Given the description of an element on the screen output the (x, y) to click on. 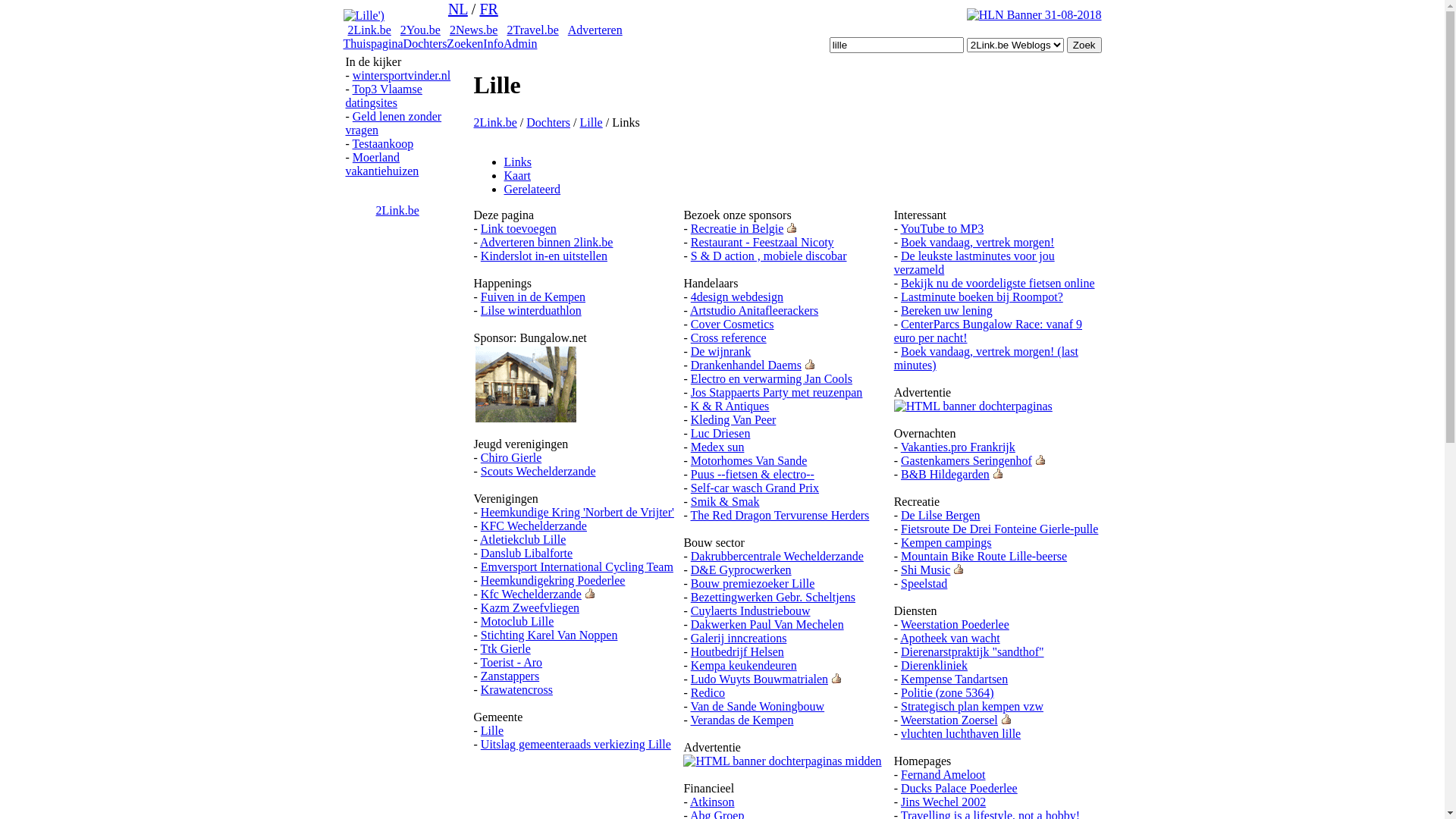
Politie (zone 5364) Element type: text (947, 692)
Kempa keukendeuren Element type: text (743, 664)
Krawatencross Element type: text (516, 689)
Adverteren binnen 2link.be Element type: text (546, 241)
Scouts Wechelderzande Element type: text (538, 470)
Atkinson Element type: text (712, 801)
S & D action , mobiele discobar Element type: text (768, 255)
2Link.be Element type: text (494, 122)
Kinderslot in-en uitstellen Element type: text (543, 255)
Moerland vakantiehuizen Element type: text (382, 163)
Link toevoegen Element type: text (518, 228)
Drankenhandel Daems Element type: text (745, 364)
Fietsroute De Drei Fonteine Gierle-pulle Element type: text (999, 528)
Houtbedrijf Helsen Element type: text (737, 651)
Dochters Element type: text (425, 43)
Admin Element type: text (519, 43)
Ttk Gierle Element type: text (505, 648)
Kazm Zweefvliegen Element type: text (529, 607)
Kfc Wechelderzande Element type: text (530, 593)
wintersportvinder.nl Element type: text (401, 75)
Lille Element type: text (491, 730)
Heemkundigekring Poederlee Element type: text (552, 580)
Vakanties.pro Frankrijk Element type: text (957, 446)
Puus --fietsen & electro-- Element type: text (752, 473)
Strategisch plan kempen vzw Element type: text (971, 705)
Top3 Vlaamse datingsites Element type: text (383, 95)
Heemkundige Kring 'Norbert de Vrijter' Element type: text (577, 511)
K & R Antiques Element type: text (729, 405)
Ducks Palace Poederlee Element type: text (958, 787)
Lastminute boeken bij Roompot? Element type: text (981, 296)
Gastenkamers Seringenhof Element type: text (966, 460)
Kempense Tandartsen Element type: text (953, 678)
B&B Hildegarden Element type: text (944, 473)
Weerstation Poederlee Element type: text (954, 624)
Kleding Van Peer Element type: text (733, 419)
2Travel.be Element type: text (532, 29)
Bezettingwerken Gebr. Scheltjens Element type: text (772, 596)
Self-car wasch Grand Prix Element type: text (754, 487)
Bouw premiezoeker Lille Element type: text (752, 583)
Smik & Smak Element type: text (724, 501)
Lille Element type: text (590, 122)
2You.be Element type: text (420, 29)
Verandas de Kempen Element type: text (741, 719)
Redico Element type: text (707, 692)
Stichting Karel Van Noppen Element type: text (549, 634)
Weerstation Zoersel Element type: text (948, 719)
Thuispagina Element type: text (372, 43)
Uitslag gemeenteraads verkiezing Lille Element type: text (575, 743)
Dochters Element type: text (548, 122)
Adverteren Element type: text (594, 29)
Artstudio Anitafleerackers Element type: text (754, 310)
Cuylaerts Industriebouw Element type: text (750, 610)
Motorhomes Van Sande Element type: text (748, 460)
Cross reference Element type: text (728, 337)
Electro en verwarming Jan Cools Element type: text (771, 378)
Danslub Libalforte Element type: text (526, 552)
De wijnrank Element type: text (720, 351)
Restaurant - Feestzaal Nicoty Element type: text (762, 241)
Zoek Element type: text (1083, 45)
2Link.be Element type: text (397, 209)
Fuiven in de Kempen Element type: text (532, 296)
Zoeken Element type: text (464, 43)
Cover Cosmetics Element type: text (732, 323)
4design webdesign Element type: text (736, 296)
CenterParcs Bungalow Race: vanaf 9 euro per nacht! Element type: text (988, 330)
Luc Driesen Element type: text (720, 432)
YouTube to MP3 Element type: text (941, 228)
Kaart Element type: text (516, 175)
KFC Wechelderzande Element type: text (533, 525)
FR Element type: text (488, 8)
Van de Sande Woningbouw Element type: text (757, 705)
NL Element type: text (457, 8)
Jins Wechel 2002 Element type: text (942, 801)
Zanstappers Element type: text (509, 675)
Info Element type: text (493, 43)
De Lilse Bergen Element type: text (940, 514)
Toerist - Aro Element type: text (511, 661)
Boek vandaag, vertrek morgen! (last minutes) Element type: text (986, 358)
Bereken uw lening Element type: text (946, 310)
Apotheek van wacht Element type: text (950, 637)
Atletiekclub Lille Element type: text (522, 539)
Mountain Bike Route Lille-beerse Element type: text (983, 555)
vluchten luchthaven lille Element type: text (960, 733)
Jos Stappaerts Party met reuzenpan Element type: text (776, 391)
Chiro Gierle Element type: text (510, 457)
Dakrubbercentrale Wechelderzande Element type: text (776, 555)
Galerij inncreations Element type: text (738, 637)
D&E Gyprocwerken Element type: text (740, 569)
Bekijk nu de voordeligste fietsen online Element type: text (997, 282)
2News.be Element type: text (473, 29)
Kempen campings Element type: text (945, 542)
Recreatie in Belgie Element type: text (737, 228)
De leukste lastminutes voor jou verzameld Element type: text (974, 262)
Dierenarstpraktijk "sandthof" Element type: text (972, 651)
Dakwerken Paul Van Mechelen Element type: text (767, 624)
Lilse winterduathlon Element type: text (530, 310)
2Link.be Element type: text (368, 29)
Speelstad Element type: text (923, 583)
Medex sun Element type: text (717, 446)
Emversport International Cycling Team Element type: text (576, 566)
Motoclub Lille Element type: text (516, 621)
Gerelateerd Element type: text (531, 188)
Fernand Ameloot Element type: text (942, 774)
Testaankoop Element type: text (383, 143)
Boek vandaag, vertrek morgen! Element type: text (977, 241)
Shi Music Element type: text (925, 569)
The Red Dragon Tervurense Herders Element type: text (779, 514)
Links Element type: text (516, 161)
Dierenkliniek Element type: text (933, 664)
Geld lenen zonder vragen Element type: text (393, 122)
Ludo Wuyts Bouwmatrialen Element type: text (759, 678)
